Given the description of an element on the screen output the (x, y) to click on. 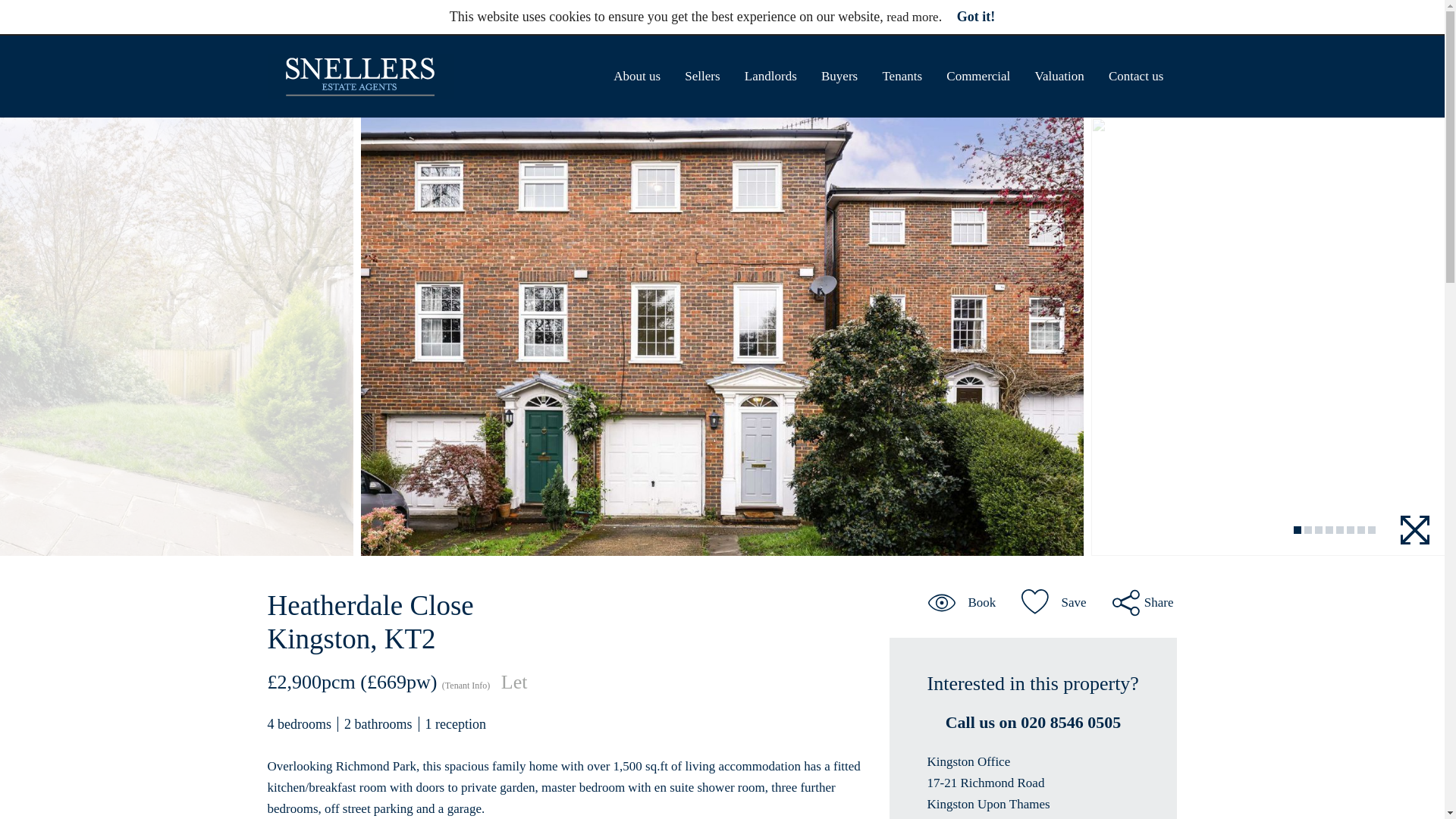
5 (1339, 529)
Commercial (978, 76)
Tenant Info (465, 685)
Commercial (978, 76)
Landlords (770, 76)
7 (1360, 529)
1 (1297, 529)
Buyers (838, 76)
Share (1142, 602)
Got it! (975, 16)
About us (636, 76)
Book (961, 602)
Sellers (702, 76)
Save (1054, 602)
Home (359, 76)
